Given the description of an element on the screen output the (x, y) to click on. 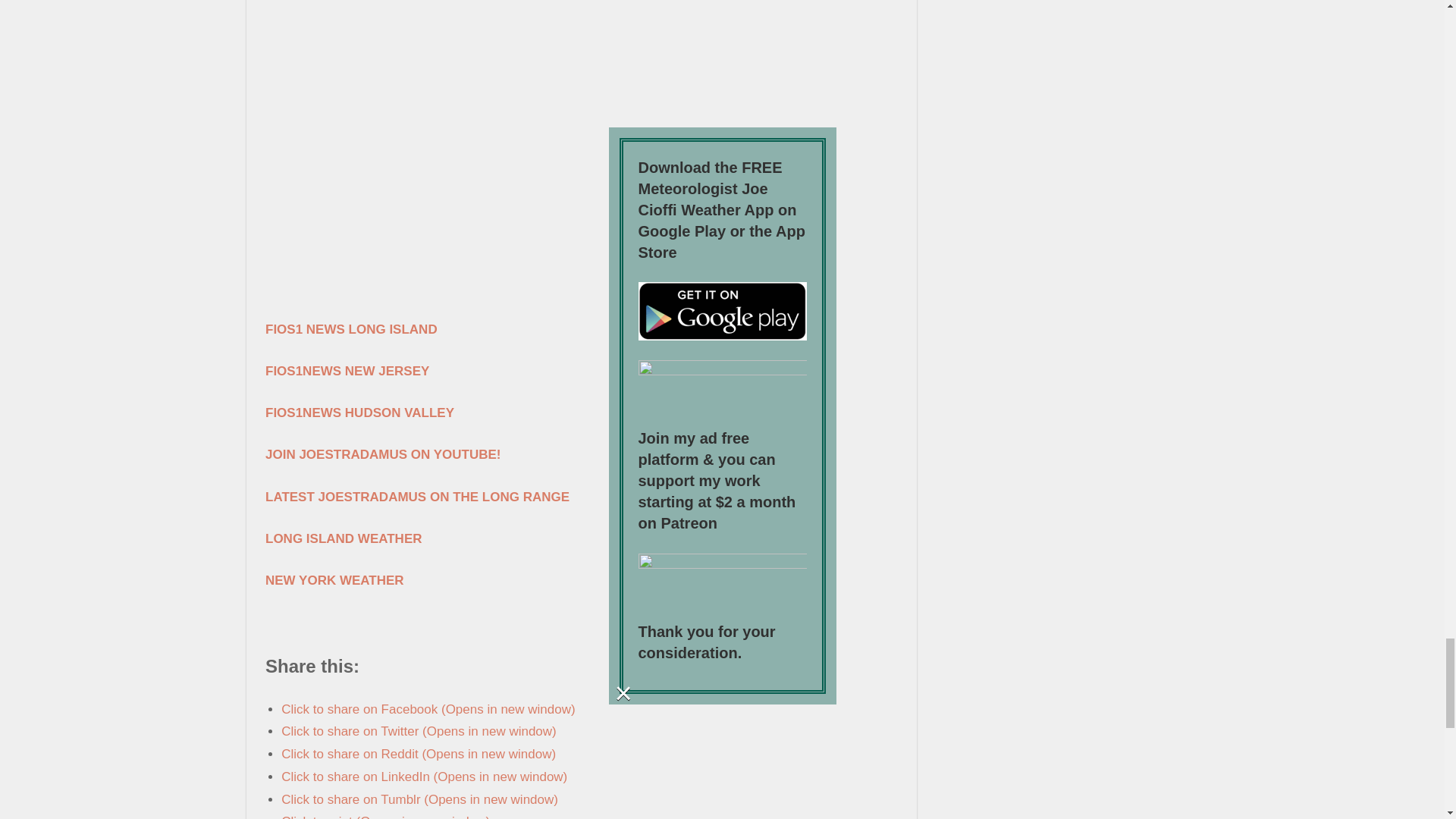
Click to share on Reddit (418, 753)
Click to print (385, 816)
Click to share on Twitter (418, 730)
Click to share on Tumblr (419, 799)
Click to share on Facebook (428, 708)
Click to share on LinkedIn (424, 776)
